Given the description of an element on the screen output the (x, y) to click on. 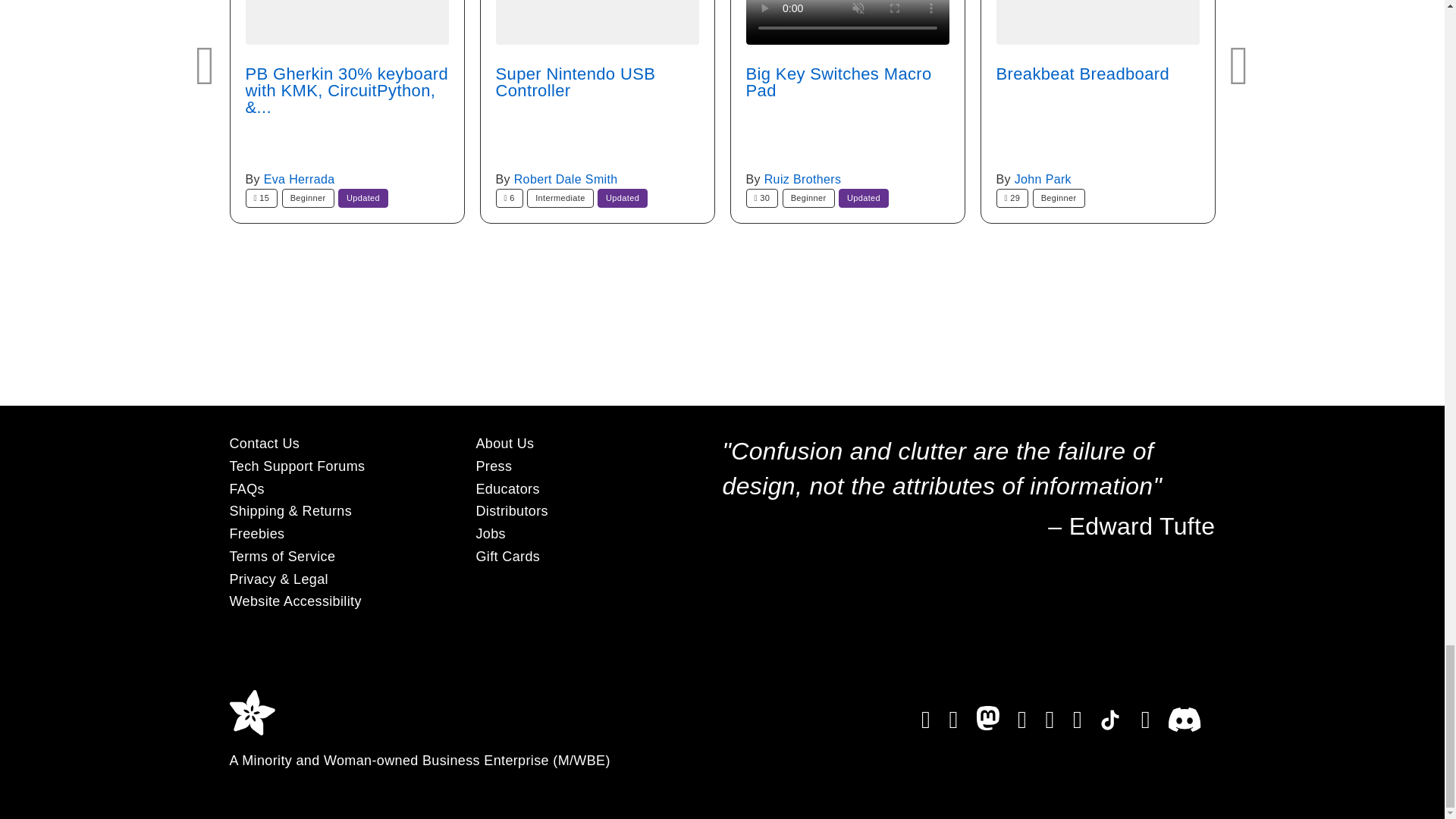
Saves (1012, 198)
Saves (761, 198)
Saves (509, 198)
Saves (262, 198)
